Given the description of an element on the screen output the (x, y) to click on. 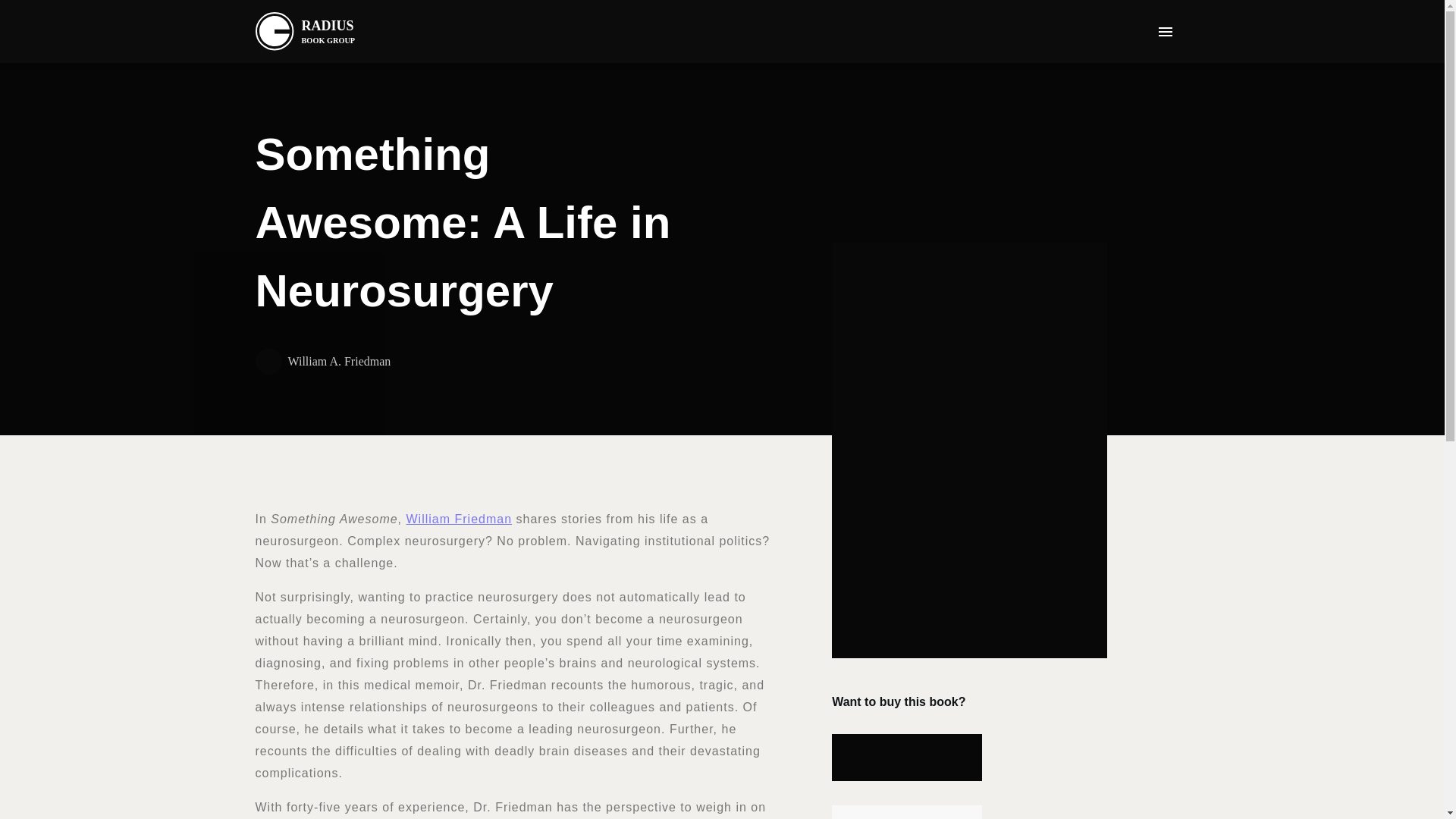
William Friedman (311, 31)
